Given the description of an element on the screen output the (x, y) to click on. 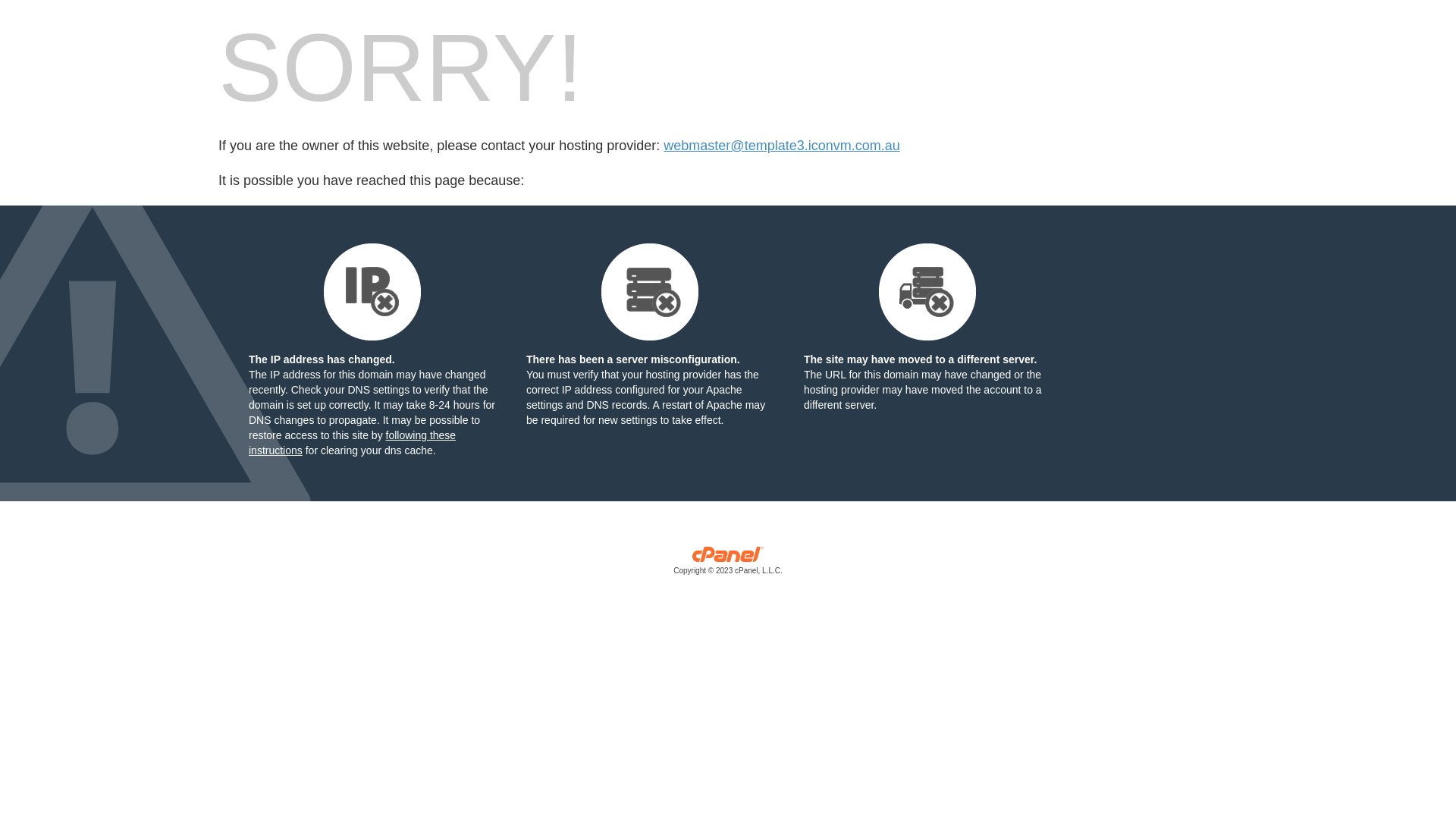
webmaster@template3.iconvm.com.au Element type: text (781, 145)
following these instructions Element type: text (351, 442)
